Given the description of an element on the screen output the (x, y) to click on. 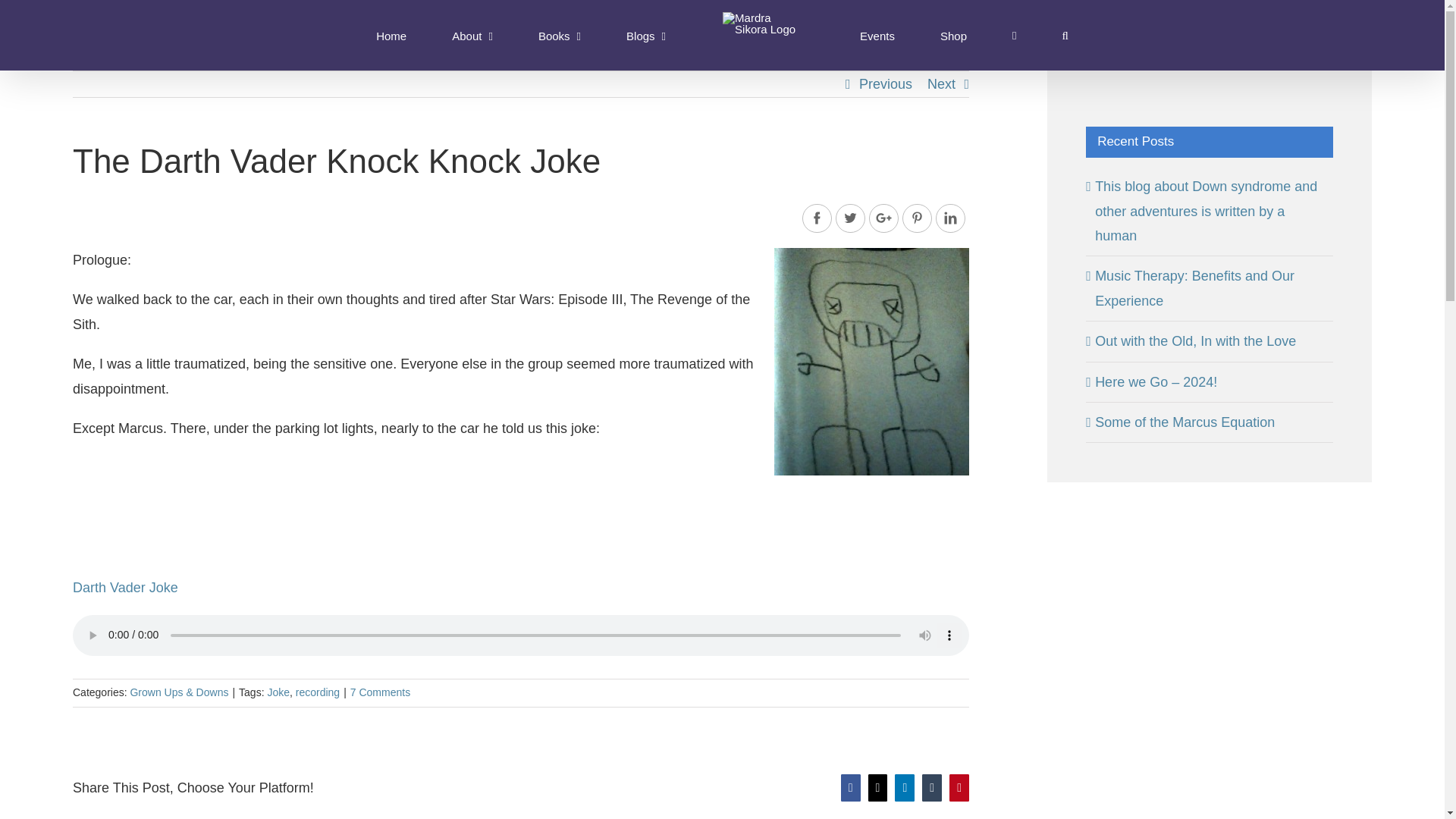
Shop (953, 34)
Books (559, 34)
Home (390, 34)
LinkedIn (904, 787)
Events (877, 34)
About (472, 34)
X (877, 787)
Blogs (645, 34)
Tumblr (931, 787)
Facebook (850, 787)
